Given the description of an element on the screen output the (x, y) to click on. 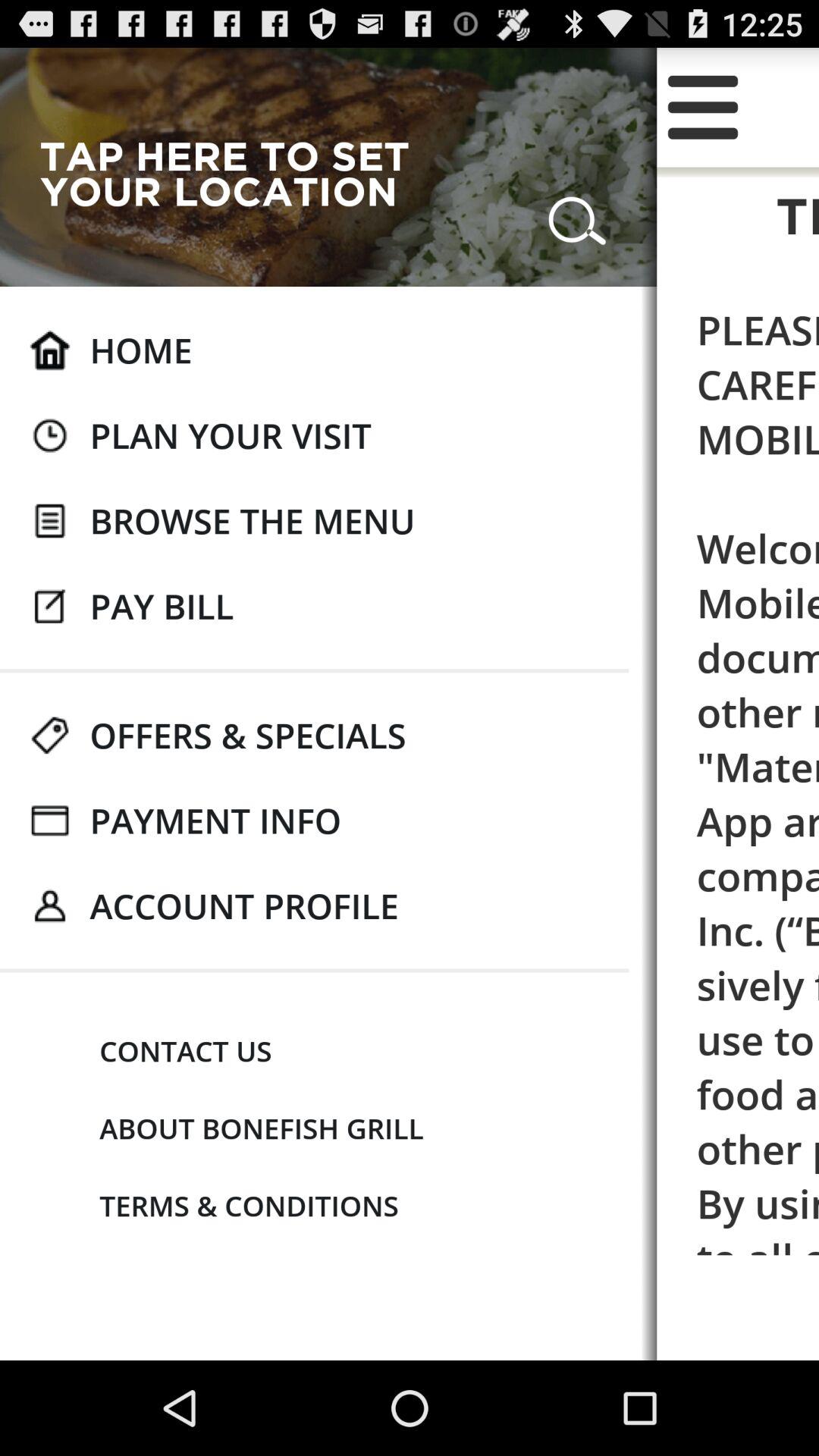
tap the button next to t item (236, 172)
